Given the description of an element on the screen output the (x, y) to click on. 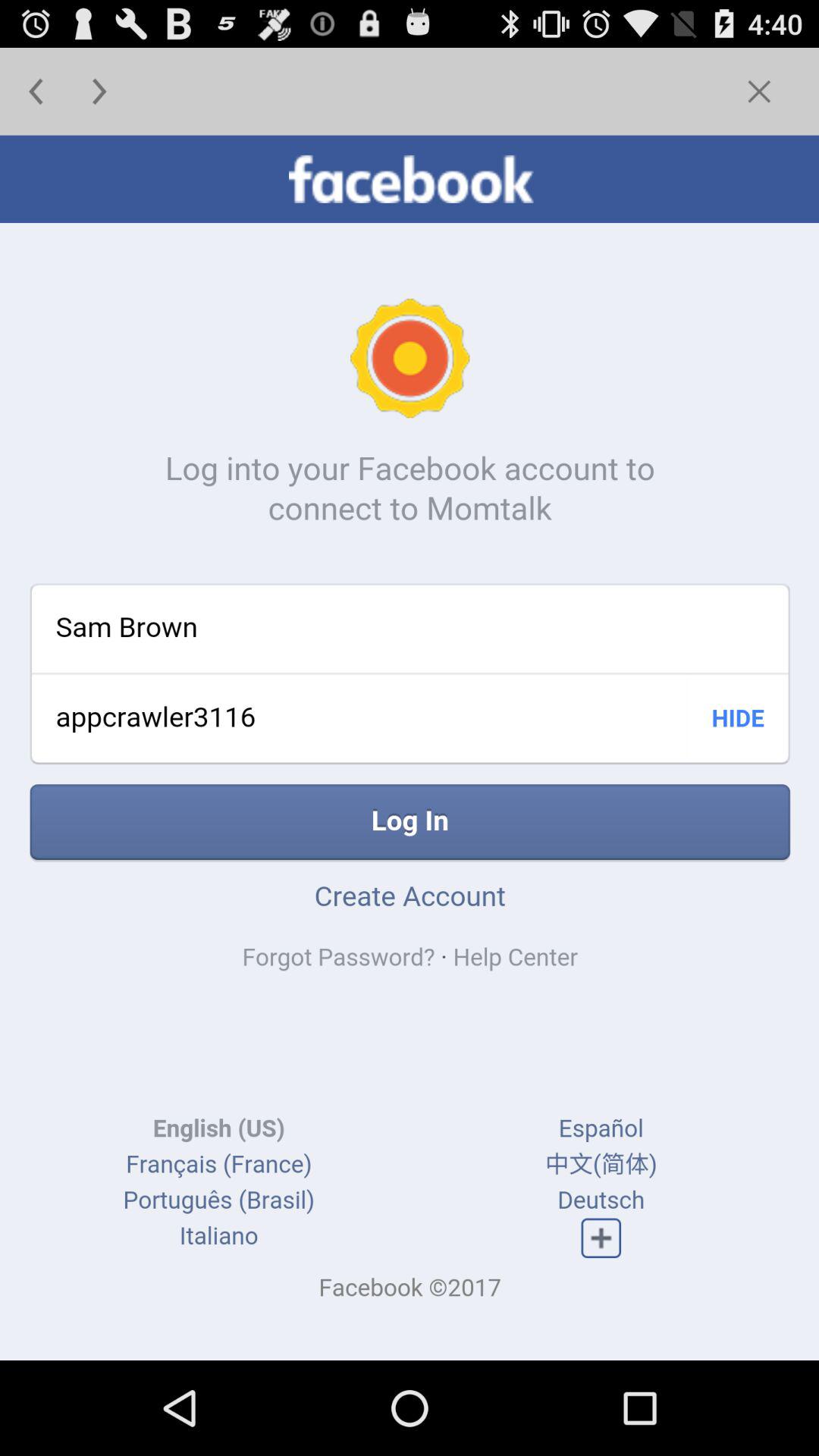
close (759, 91)
